Given the description of an element on the screen output the (x, y) to click on. 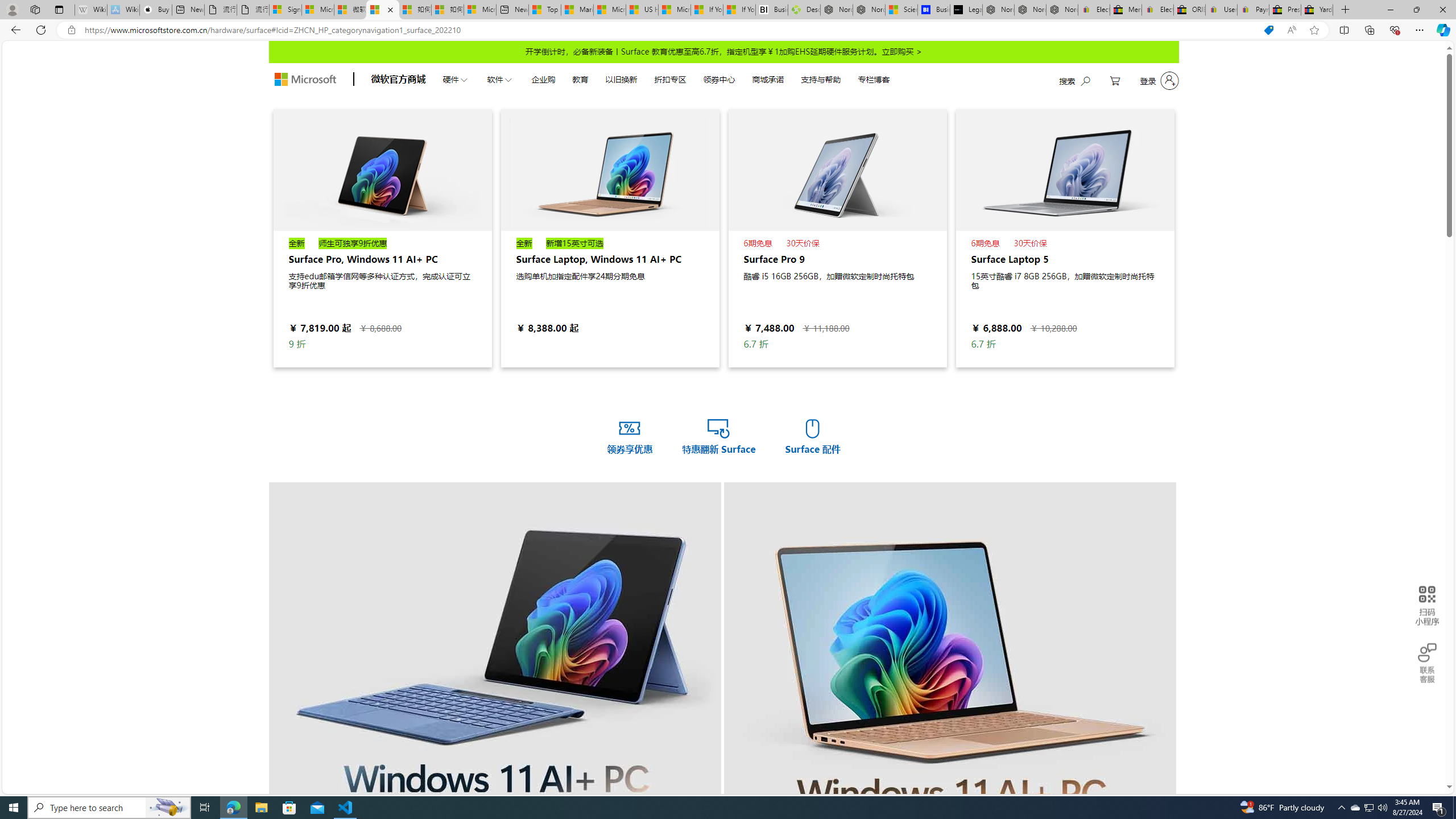
Workspaces (34, 9)
Close (1442, 9)
